Given the description of an element on the screen output the (x, y) to click on. 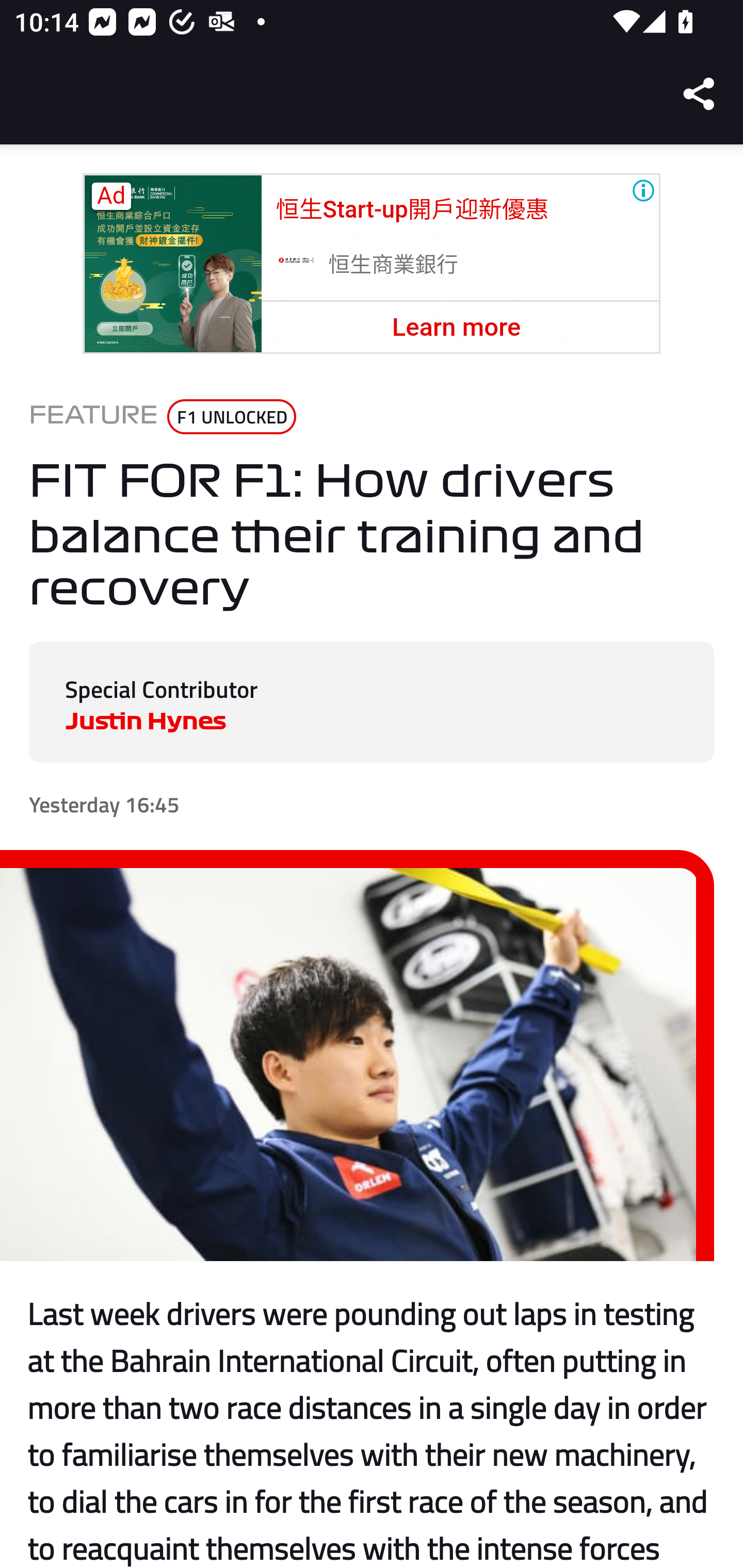
Share (699, 93)
index (172, 264)
恒生Start-up開戶迎新優惠 (411, 209)
index (295, 262)
恒生商業銀行 (393, 264)
Learn more (455, 327)
